Given the description of an element on the screen output the (x, y) to click on. 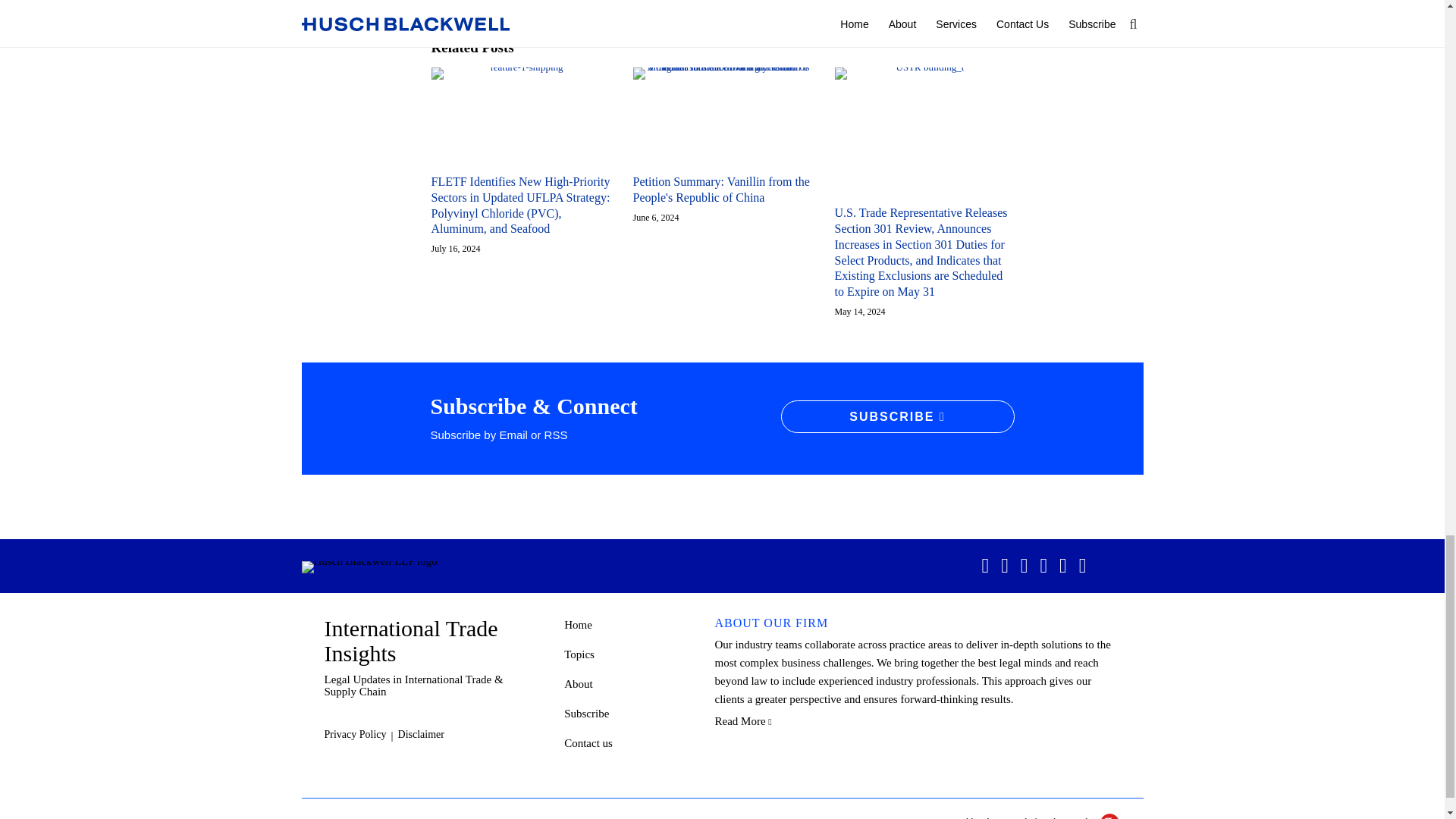
LexBlog Logo (1109, 816)
